Given the description of an element on the screen output the (x, y) to click on. 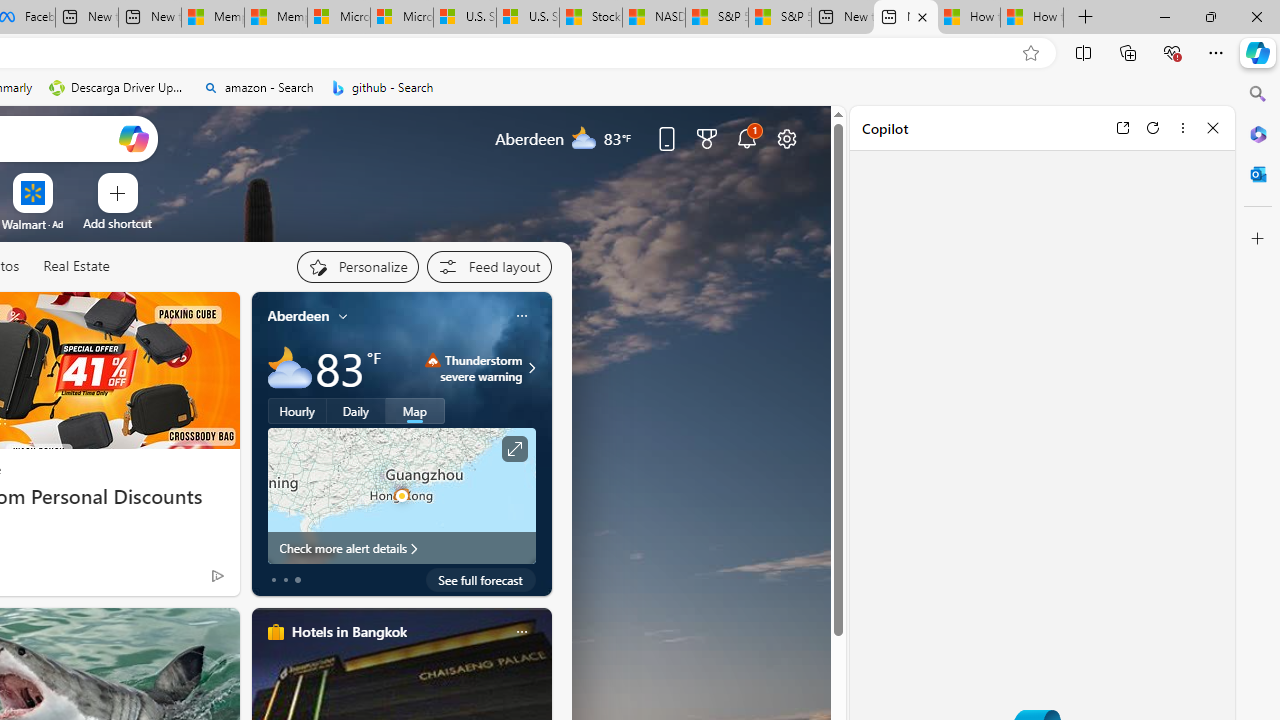
Ad (58, 224)
Add a site (117, 223)
Page settings (786, 138)
Notifications (746, 138)
github - Search (381, 88)
Ad Choice (217, 575)
Open link in new tab (1122, 127)
Click to see more information (513, 449)
Hourly (296, 411)
Open Copilot (132, 138)
